Given the description of an element on the screen output the (x, y) to click on. 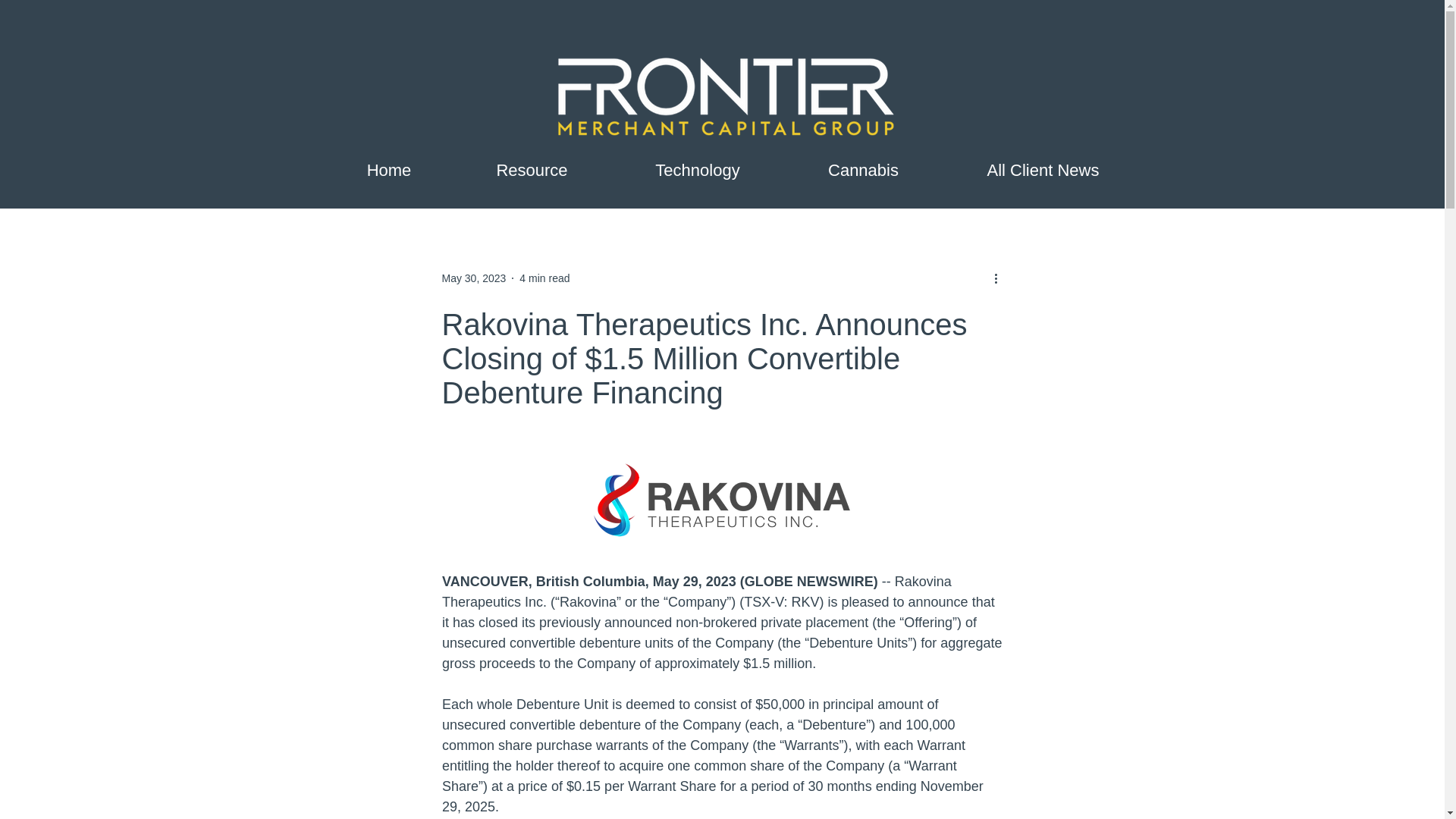
Home (389, 170)
4 min read (544, 277)
Cannabis (864, 170)
All Client News (1043, 170)
May 30, 2023 (473, 277)
Technology (697, 170)
Resource (531, 170)
